Given the description of an element on the screen output the (x, y) to click on. 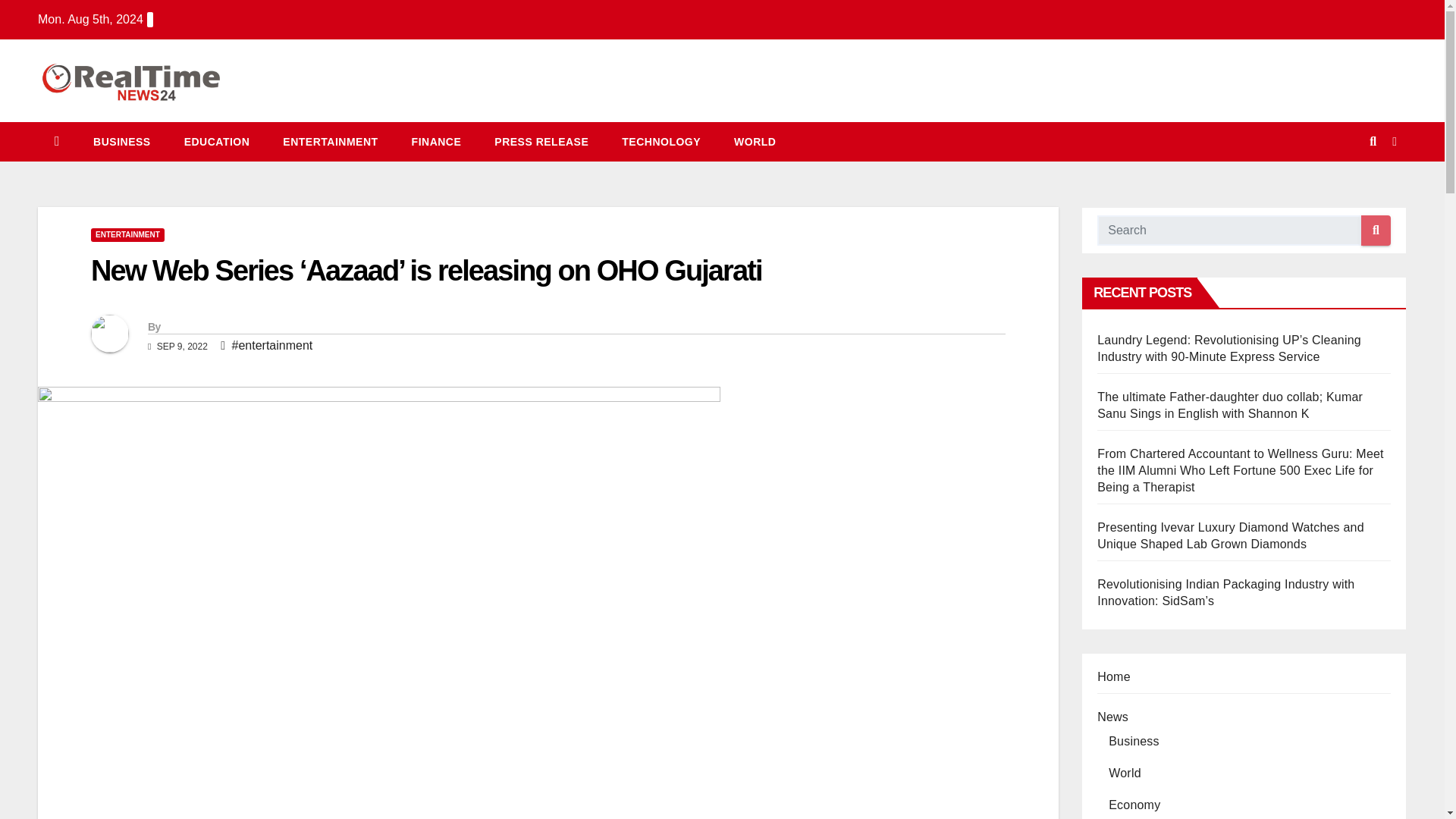
EDUCATION (216, 141)
WORLD (754, 141)
Press Release (541, 141)
BUSINESS (122, 141)
Business (122, 141)
World (754, 141)
Entertainment (330, 141)
Technology (661, 141)
FINANCE (436, 141)
ENTERTAINMENT (330, 141)
TECHNOLOGY (661, 141)
ENTERTAINMENT (127, 234)
Education (216, 141)
Finance (436, 141)
PRESS RELEASE (541, 141)
